Given the description of an element on the screen output the (x, y) to click on. 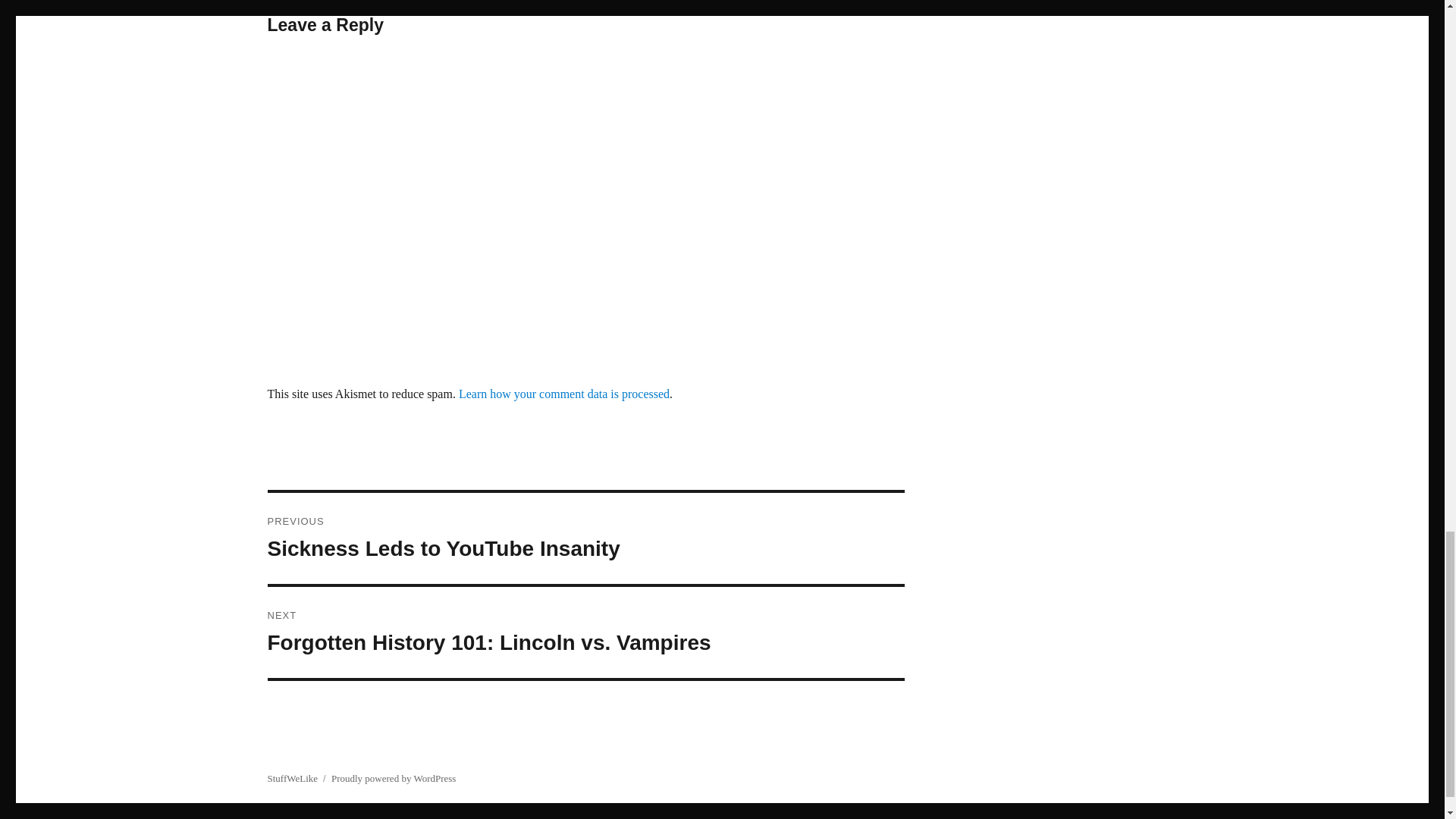
Comment Form (585, 538)
StuffWeLike (563, 393)
Proudly powered by WordPress (585, 632)
